Given the description of an element on the screen output the (x, y) to click on. 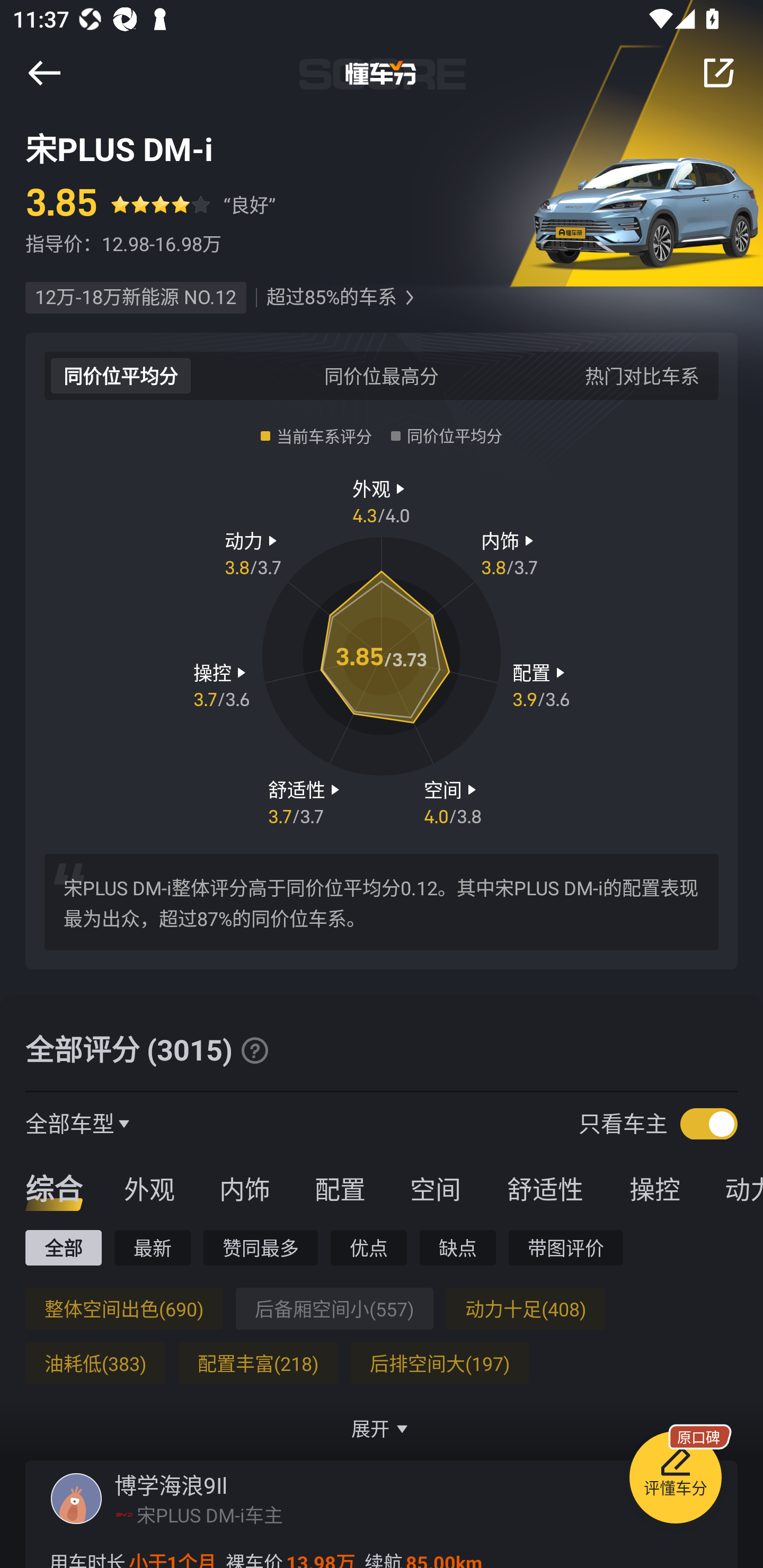
 (44, 72)
 (718, 72)
超过85%的车系 (331, 297)
 (408, 297)
同价位平均分 (120, 375)
同价位最高分 (381, 375)
热门对比车系 (641, 375)
外观  4.3 / 4.0 (381, 500)
动力  3.8 / 3.7 (252, 552)
内饰  3.8 / 3.7 (509, 552)
操控  3.7 / 3.6 (221, 685)
配置  3.9 / 3.6 (540, 685)
舒适性  3.7 / 3.7 (305, 801)
空间  4.0 / 3.8 (452, 801)
 (254, 1050)
全部车型 (69, 1123)
外观 (148, 1188)
内饰 (244, 1188)
配置 (339, 1188)
空间 (434, 1188)
舒适性 (544, 1188)
操控 (654, 1188)
全部 (63, 1247)
最新 (152, 1247)
赞同最多 (260, 1247)
优点 (368, 1247)
缺点 (457, 1247)
带图评价 (565, 1247)
整体空间出色(690) (123, 1308)
后备厢空间小(557) (334, 1308)
动力十足(408) (525, 1308)
油耗低(383) (95, 1363)
配置丰富(218) (258, 1363)
后排空间大(197) (439, 1363)
展开  (381, 1428)
 评懂车分 原口碑 (675, 1480)
博学海浪9Il (170, 1485)
宋PLUS DM-i车主 (209, 1514)
